Given the description of an element on the screen output the (x, y) to click on. 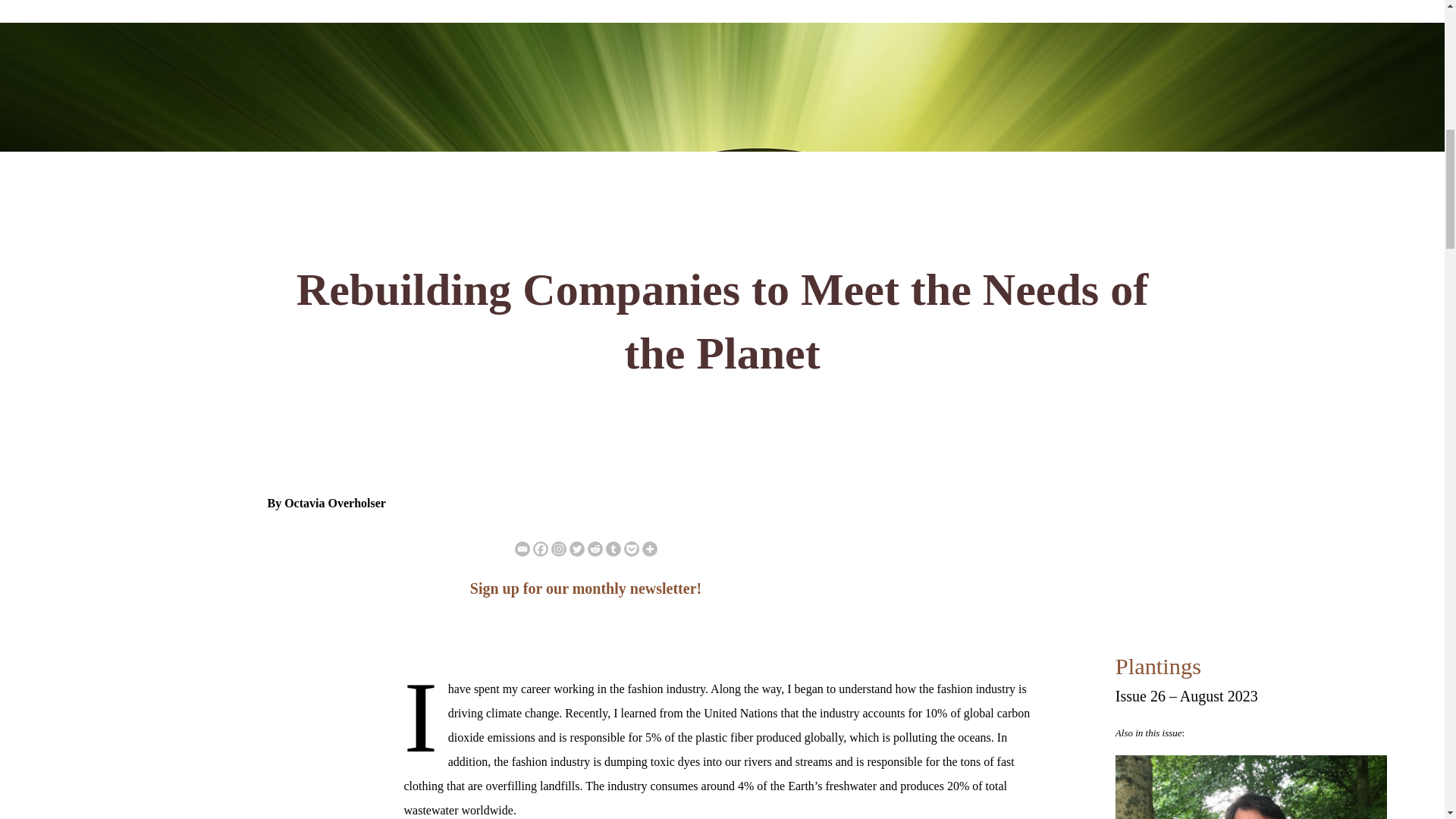
Sign up for our monthly newsletter! (585, 588)
Twitter (576, 548)
Reddit (594, 548)
Email (521, 548)
Instagram (558, 548)
More (649, 548)
Plantings (1158, 666)
Pocket (631, 548)
Facebook (539, 548)
Tumblr (612, 548)
